Given the description of an element on the screen output the (x, y) to click on. 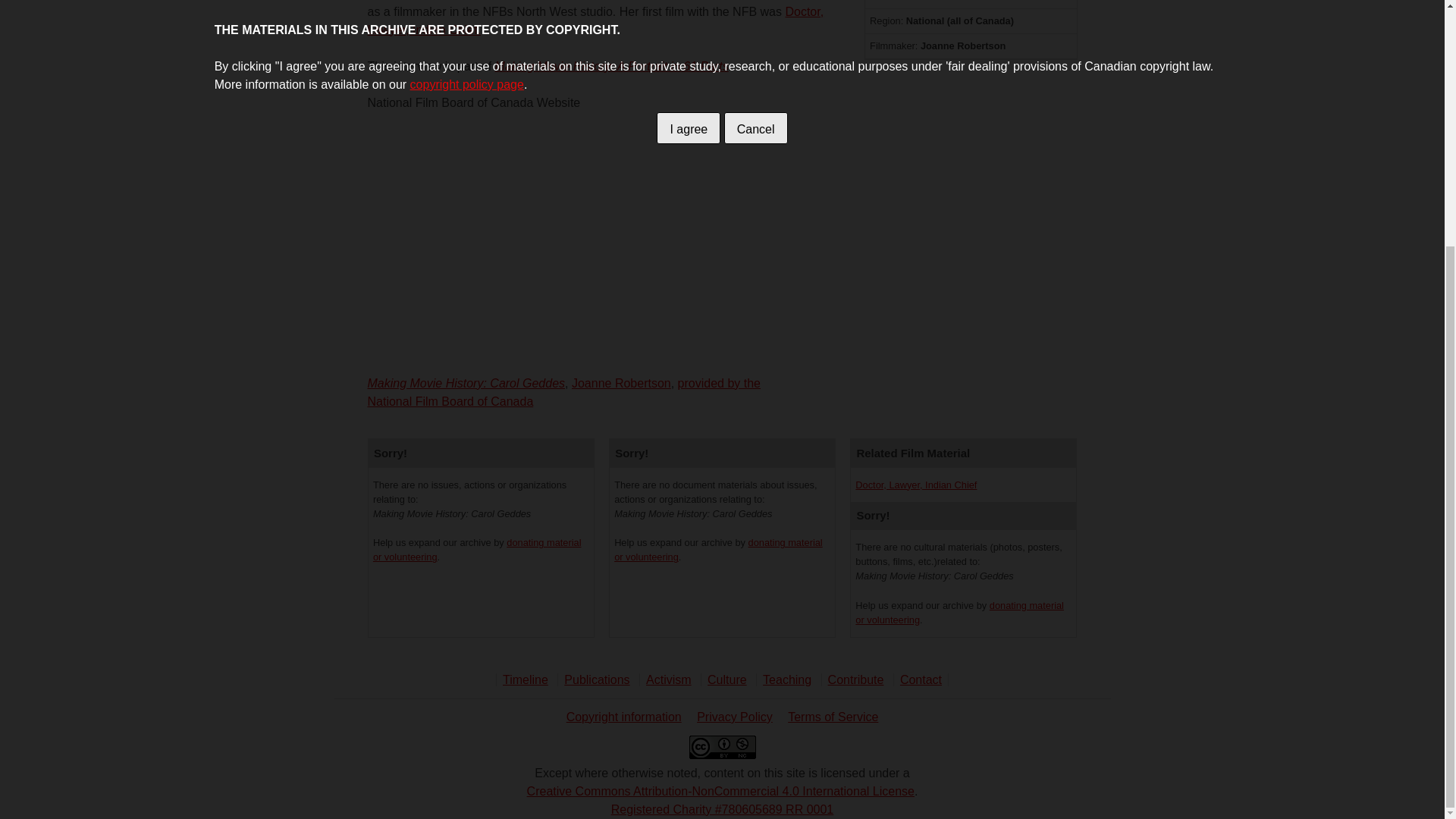
I agree (688, 128)
Cancel (755, 128)
more films by Joanne Robertson (621, 382)
